Given the description of an element on the screen output the (x, y) to click on. 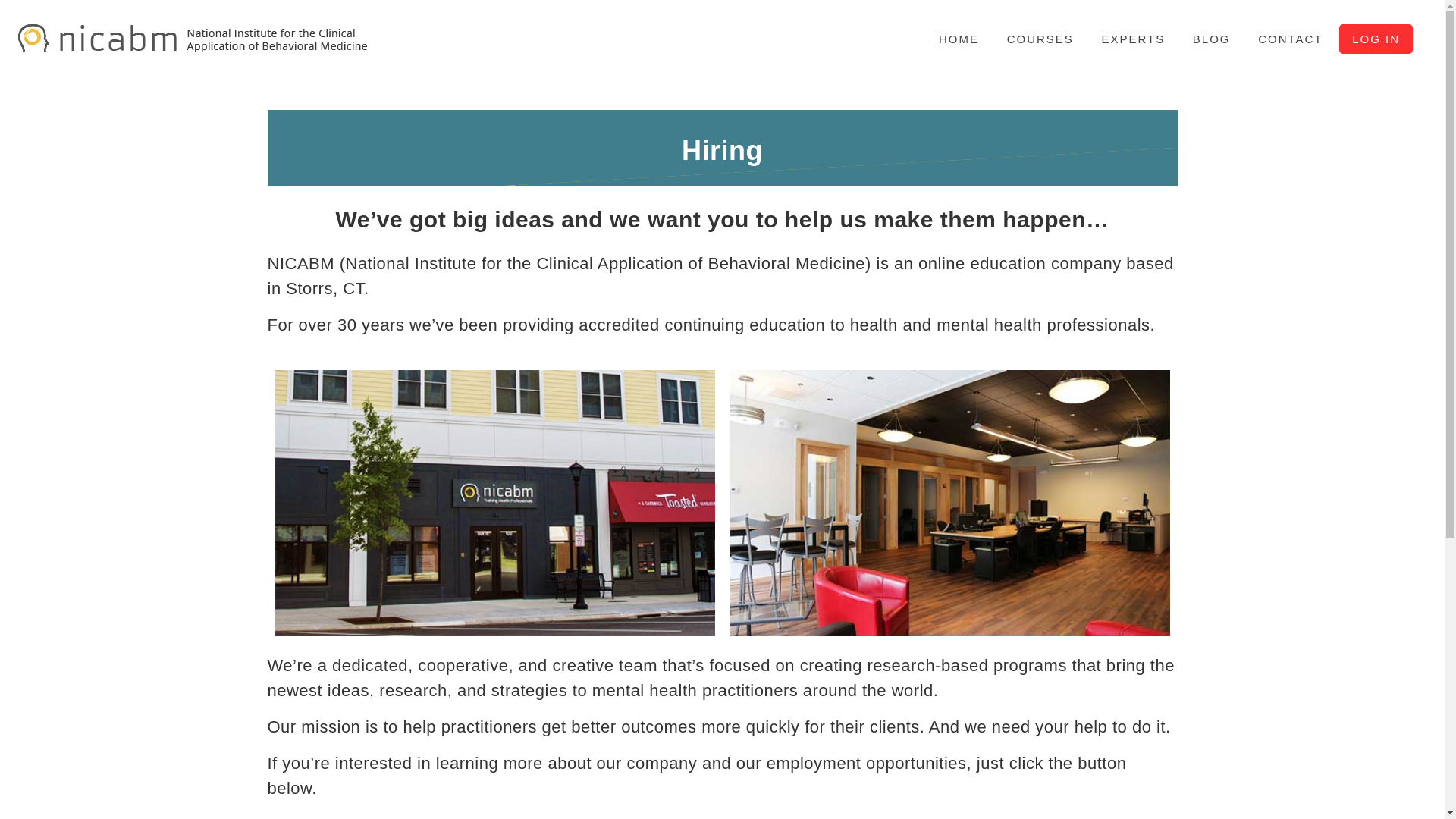
CONTACT (1289, 38)
HOME (958, 38)
COURSES (1039, 38)
EXPERTS (1132, 38)
NICABM (194, 47)
LOG IN (1375, 38)
BLOG (1210, 38)
